Given the description of an element on the screen output the (x, y) to click on. 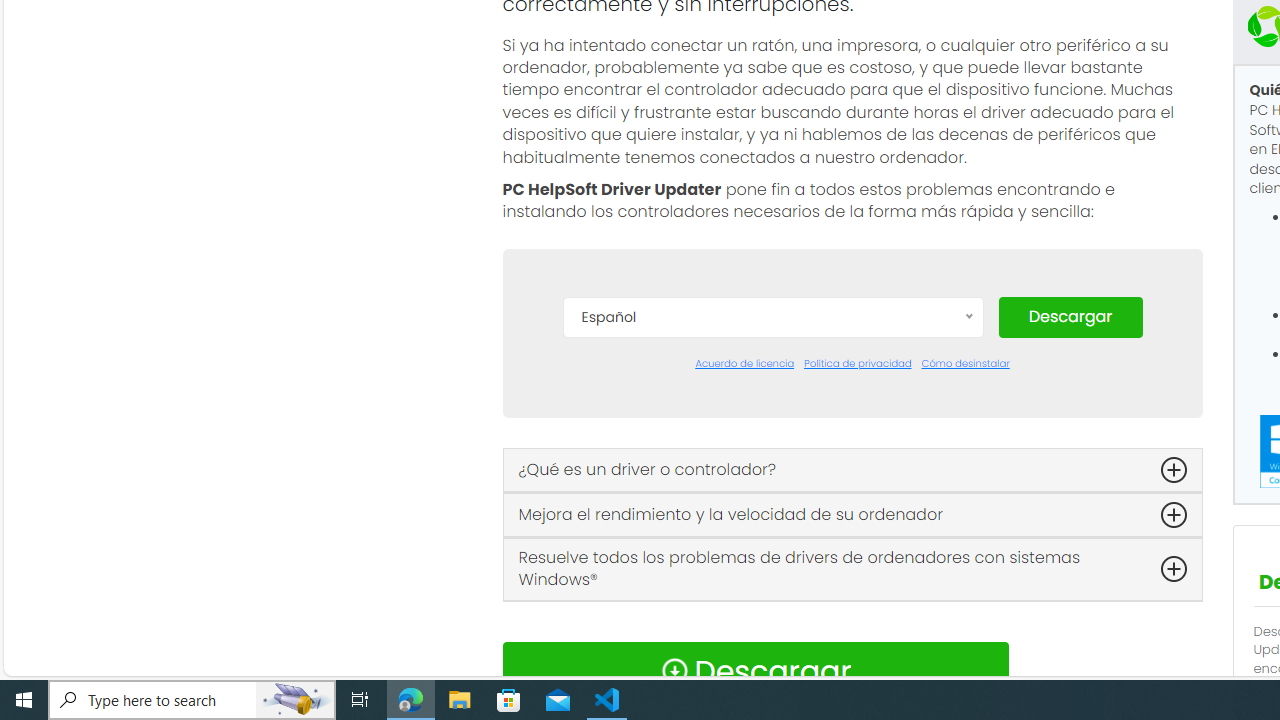
Acuerdo de licencia (744, 363)
Deutsch (772, 472)
English (772, 501)
Nederlands (772, 621)
Descargar (1070, 316)
Italiano (772, 591)
Norsk (772, 652)
Dansk (772, 411)
Download Icon (674, 670)
